Given the description of an element on the screen output the (x, y) to click on. 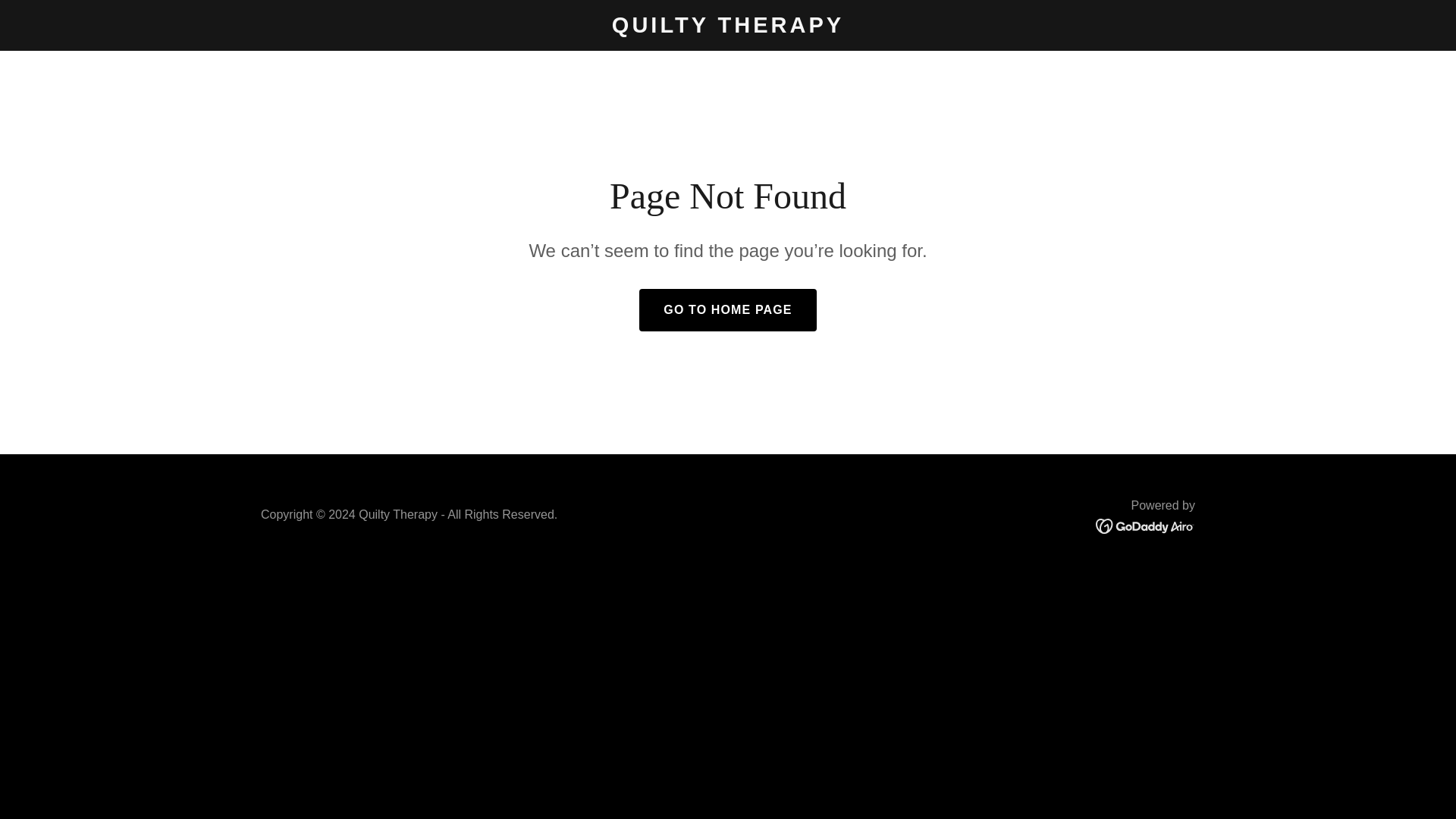
GO TO HOME PAGE (727, 310)
QUILTY THERAPY (727, 28)
Quilty Therapy (727, 28)
